Given the description of an element on the screen output the (x, y) to click on. 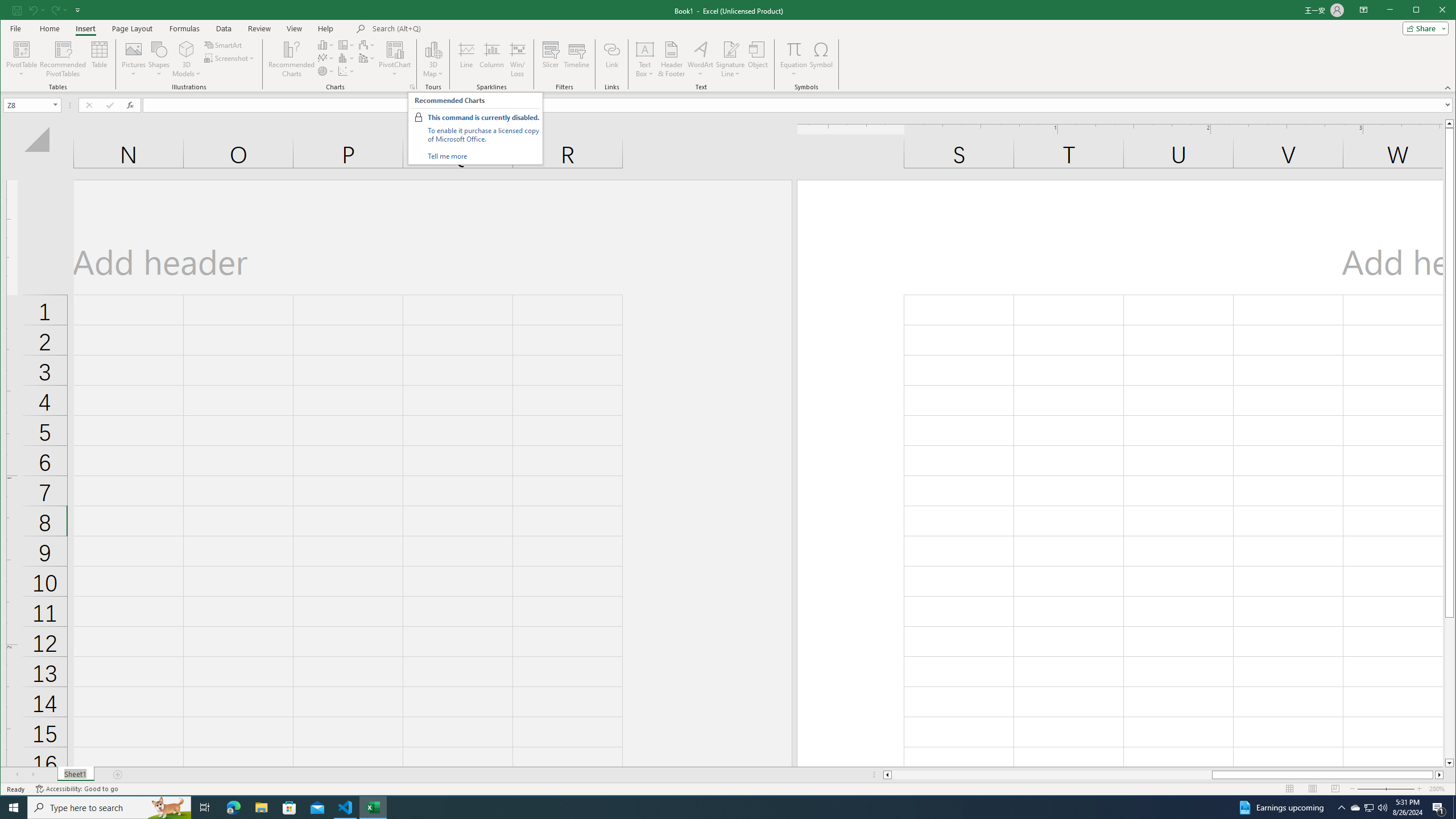
Sheet Tab (75, 774)
3D Map (432, 59)
Recommended Charts (411, 86)
Page left (1051, 774)
Type here to search (108, 807)
